Given the description of an element on the screen output the (x, y) to click on. 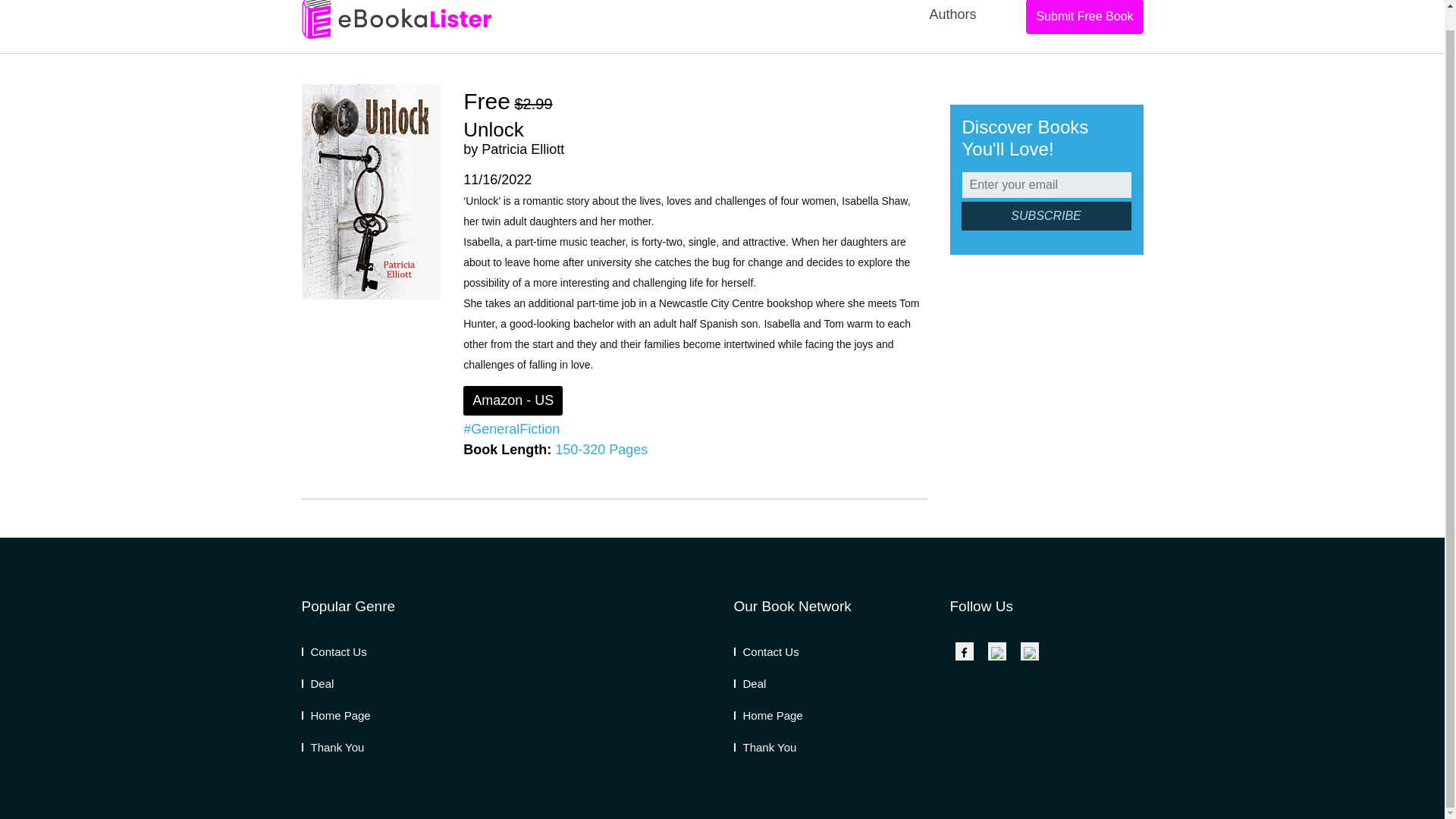
Subscribe (1045, 215)
Deal (750, 683)
Authors (952, 24)
Unlock (492, 128)
Contact Us (333, 651)
Subscribe (1045, 215)
Home Page (336, 715)
Thank You (764, 747)
Submit Free Book (1084, 17)
Home Page (768, 715)
Thank You (333, 747)
Amazon - US (512, 400)
150-320 Pages (600, 449)
Deal (317, 683)
Contact Us (766, 651)
